Given the description of an element on the screen output the (x, y) to click on. 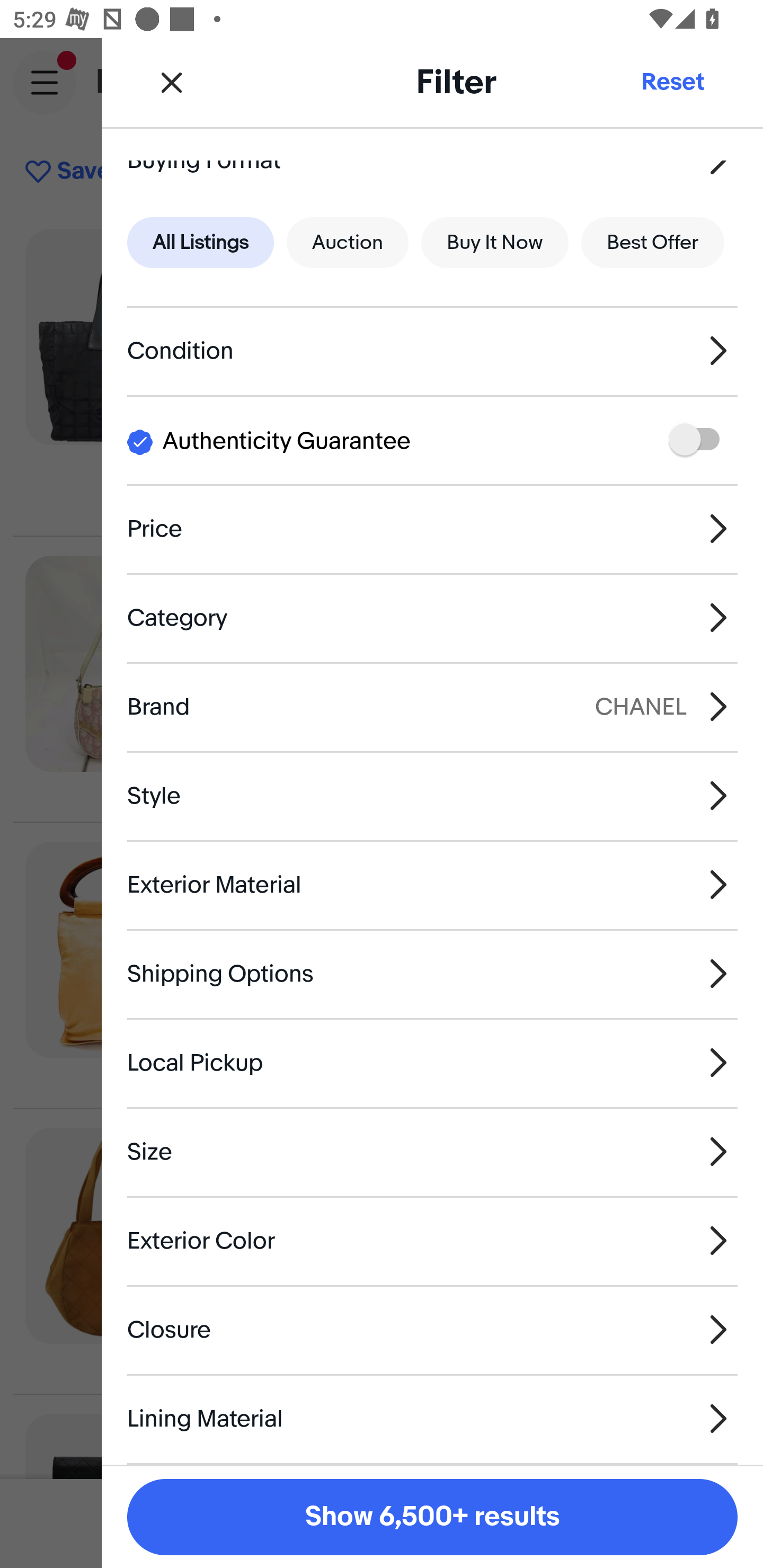
Close Filter (171, 81)
Reset (672, 81)
All Listings (200, 241)
Auction (347, 241)
Buy It Now (494, 241)
Best Offer (652, 241)
Condition (432, 350)
I  Authenticity Guarantee (432, 439)
Price (432, 528)
Category (432, 617)
Brand CHANEL (432, 706)
Style (432, 795)
Exterior Material (432, 884)
Shipping Options (432, 973)
Local Pickup (432, 1062)
Size (432, 1151)
Exterior Color (432, 1240)
Closure (432, 1329)
Lining Material (432, 1417)
Show 6,500+ results (432, 1516)
